Given the description of an element on the screen output the (x, y) to click on. 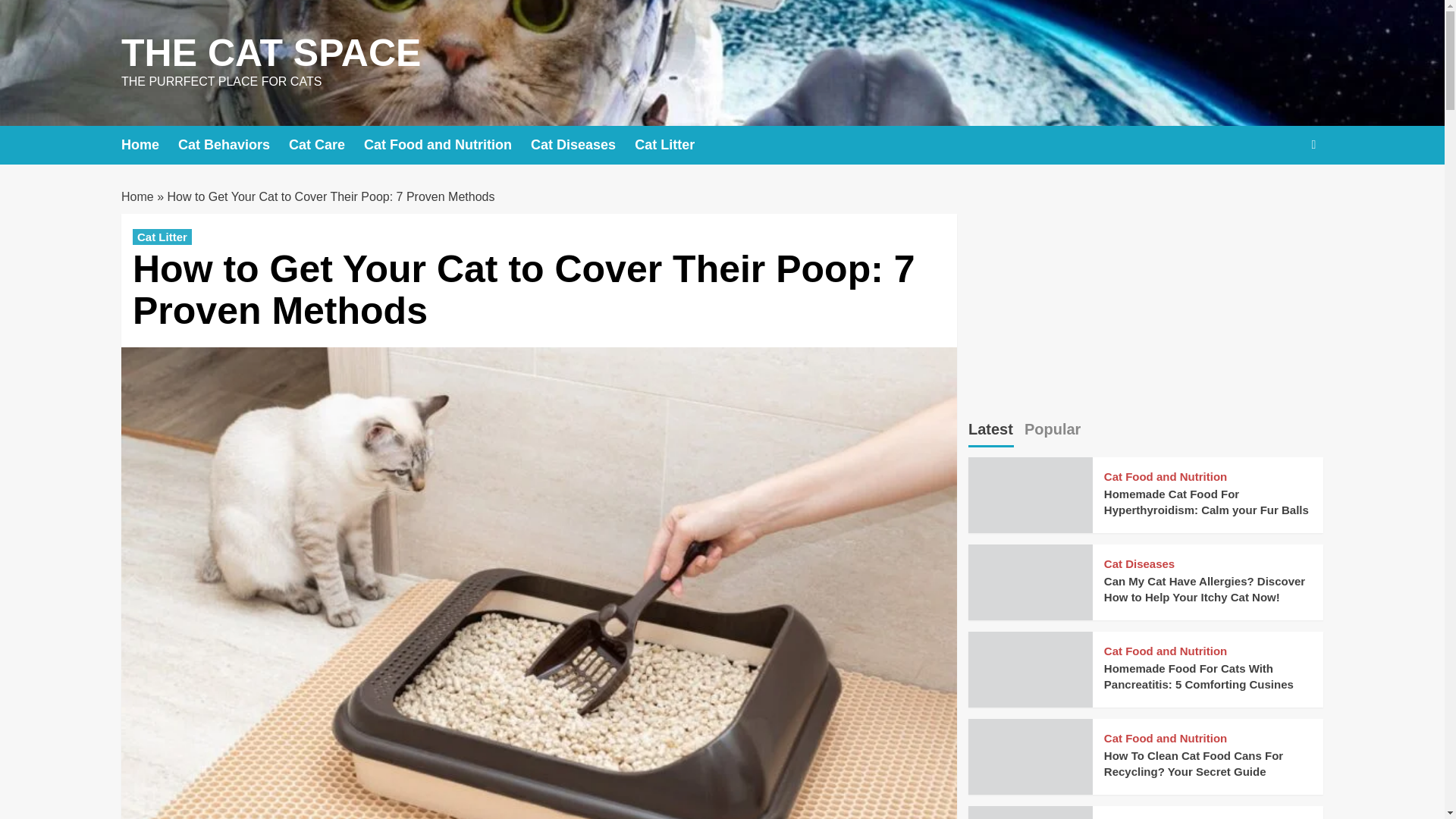
Popular (1052, 430)
Cat Diseases (1138, 563)
Cat Care (326, 145)
Cat Food and Nutrition (1165, 650)
Cat Litter (673, 145)
Home (148, 145)
Search (1278, 191)
